Given the description of an element on the screen output the (x, y) to click on. 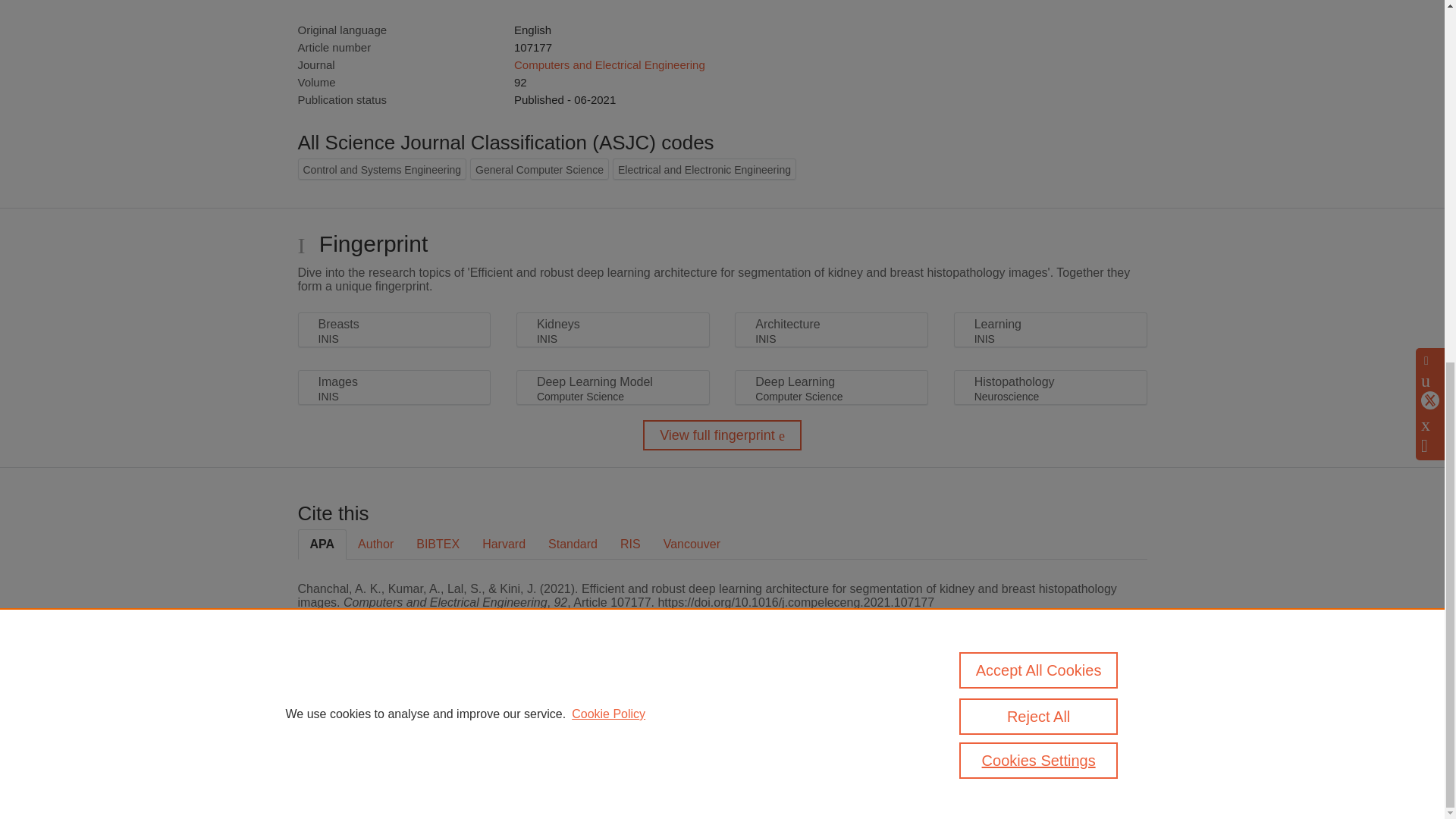
Scopus (394, 708)
Elsevier B.V. (506, 728)
Computers and Electrical Engineering (608, 64)
View full fingerprint (722, 435)
Cookies Settings (334, 781)
Pure (362, 708)
use of cookies (796, 760)
